Given the description of an element on the screen output the (x, y) to click on. 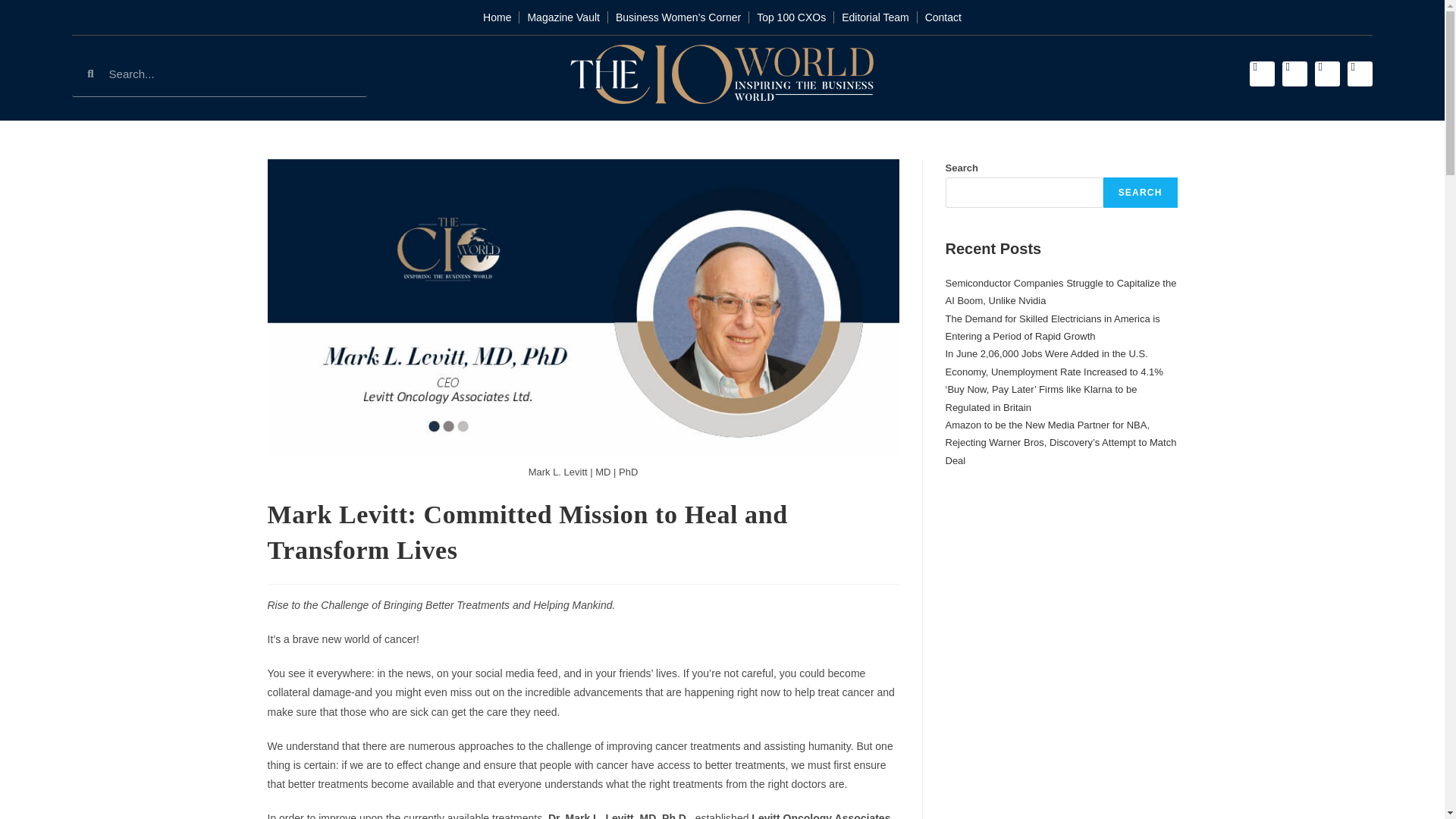
Magazine Vault (563, 17)
Contact (943, 17)
Home (497, 17)
Top 100 CXOs (790, 17)
Editorial Team (874, 17)
